Given the description of an element on the screen output the (x, y) to click on. 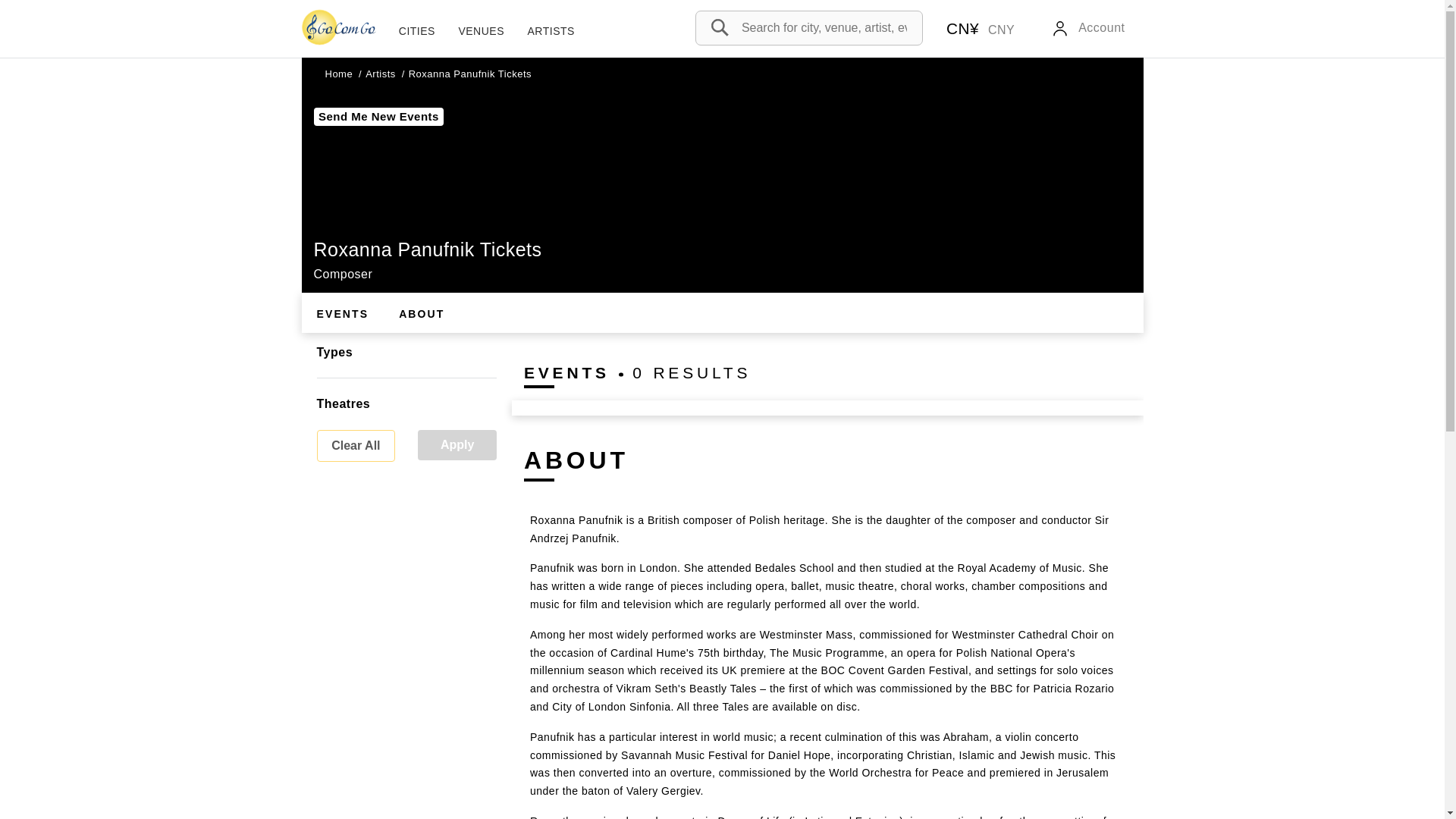
CITIES (416, 30)
Account (1088, 28)
VENUES (480, 30)
ARTISTS (550, 30)
